Given the description of an element on the screen output the (x, y) to click on. 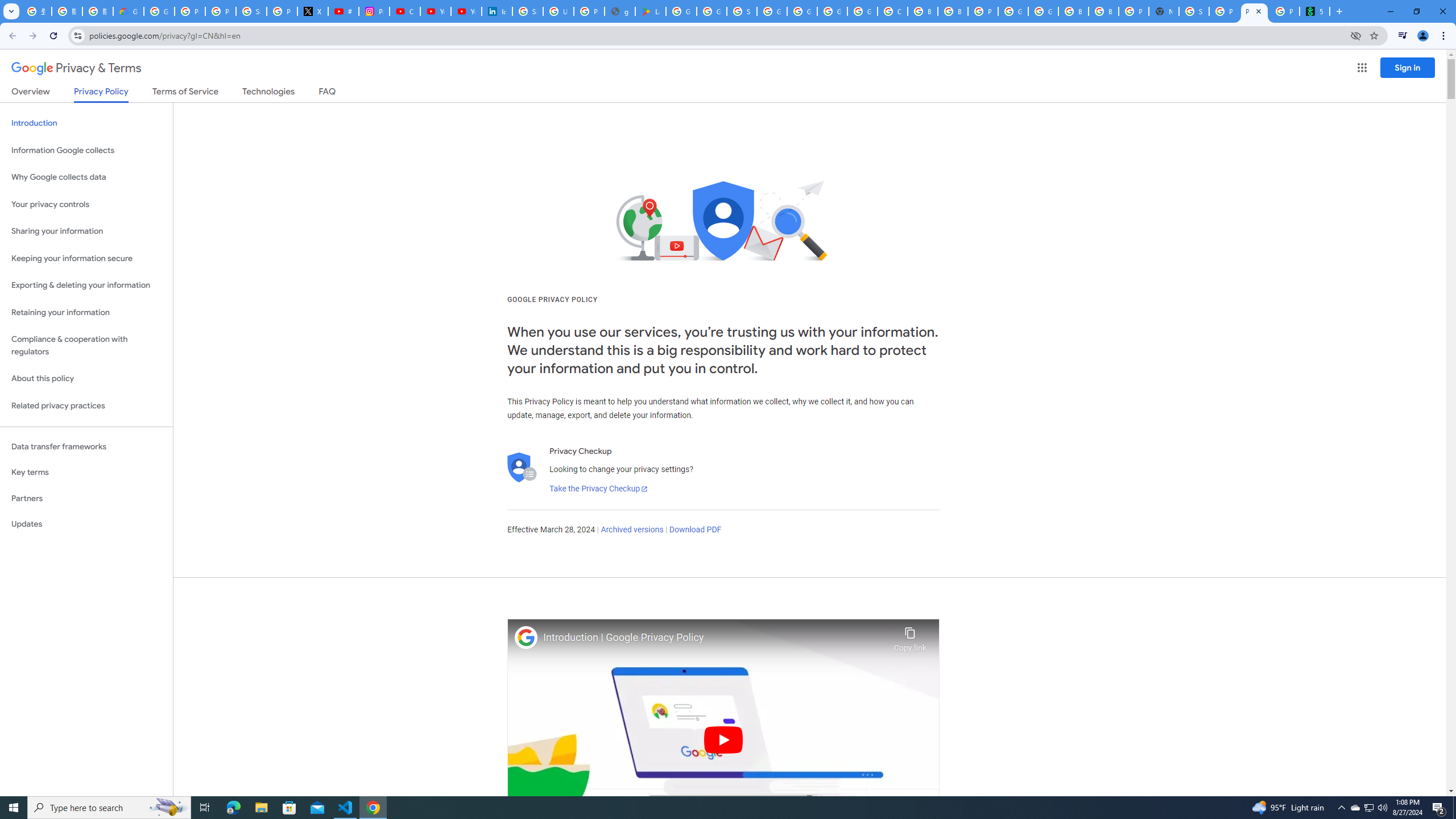
Privacy Help Center - Policies Help (220, 11)
Privacy Policy (100, 94)
Sign in - Google Accounts (741, 11)
Last Shelter: Survival - Apps on Google Play (650, 11)
Sign in - Google Accounts (1193, 11)
Archived versions (631, 529)
Your privacy controls (86, 204)
YouTube Culture & Trends - YouTube Top 10, 2021 (465, 11)
